Given the description of an element on the screen output the (x, y) to click on. 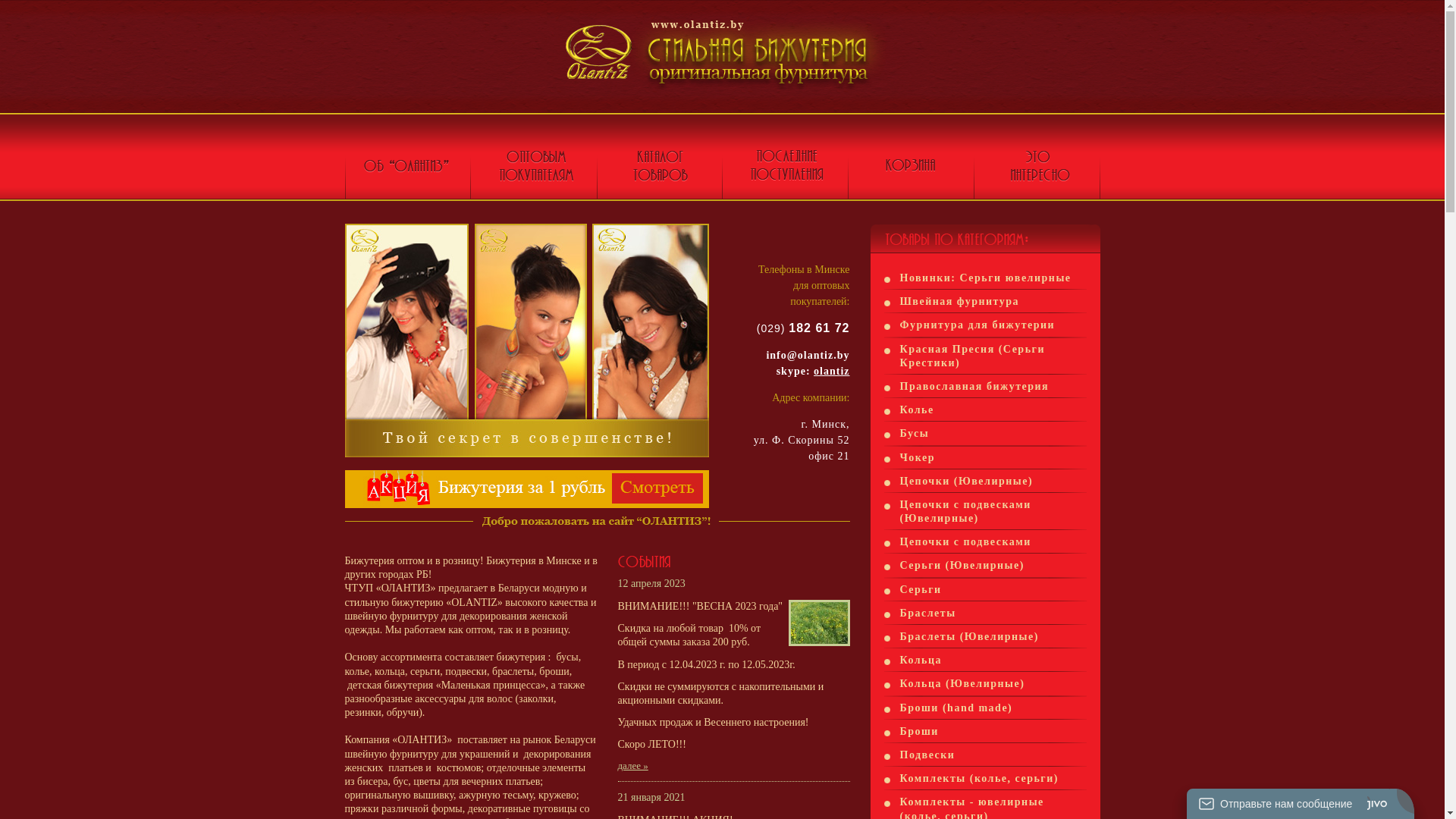
olantiz Element type: text (831, 370)
